Given the description of an element on the screen output the (x, y) to click on. 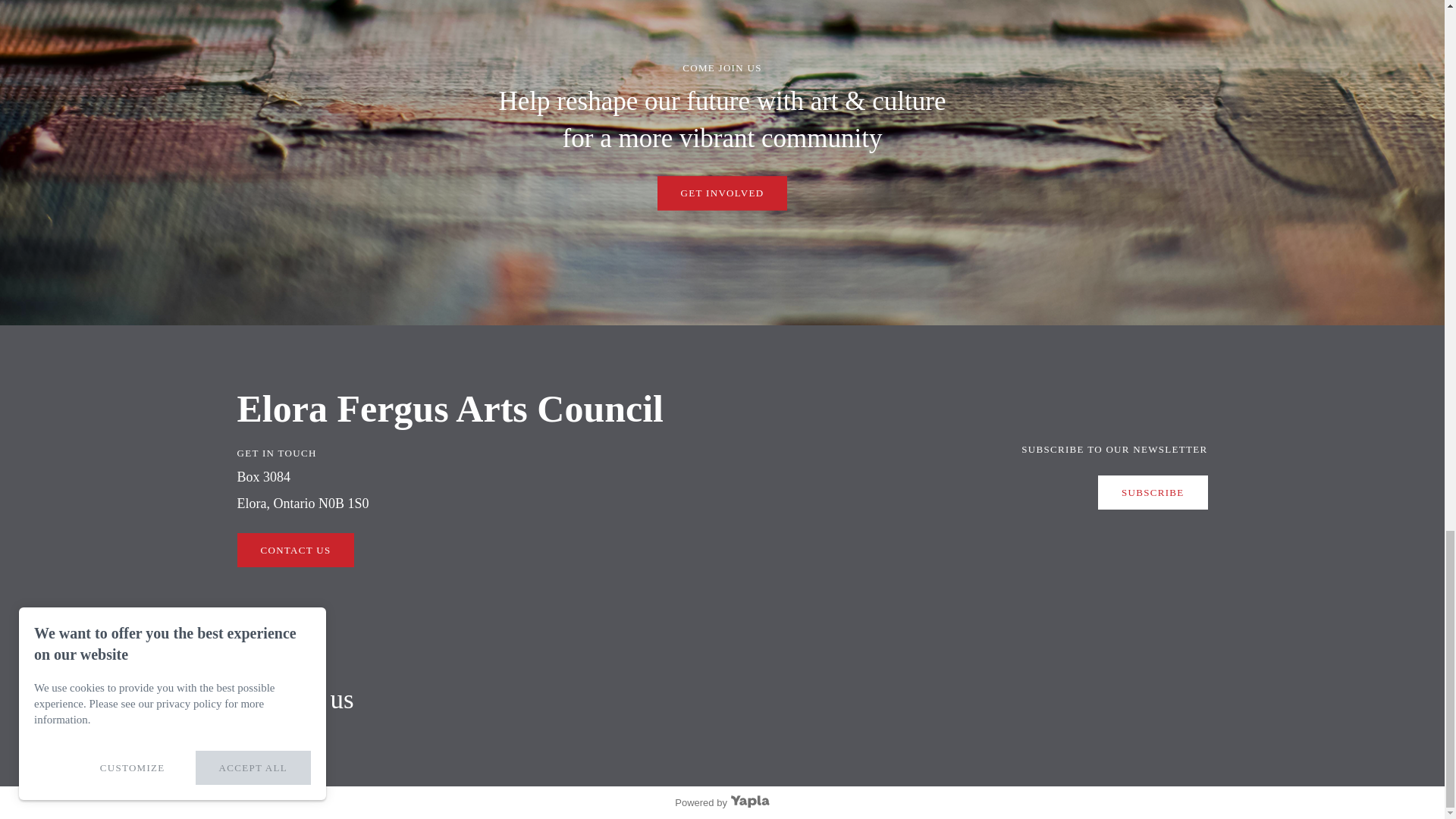
facebook (255, 736)
SUBSCRIBE (1152, 492)
Powered by (722, 802)
instagram (276, 736)
CONTACT US (294, 550)
GET INVOLVED (722, 192)
